Given the description of an element on the screen output the (x, y) to click on. 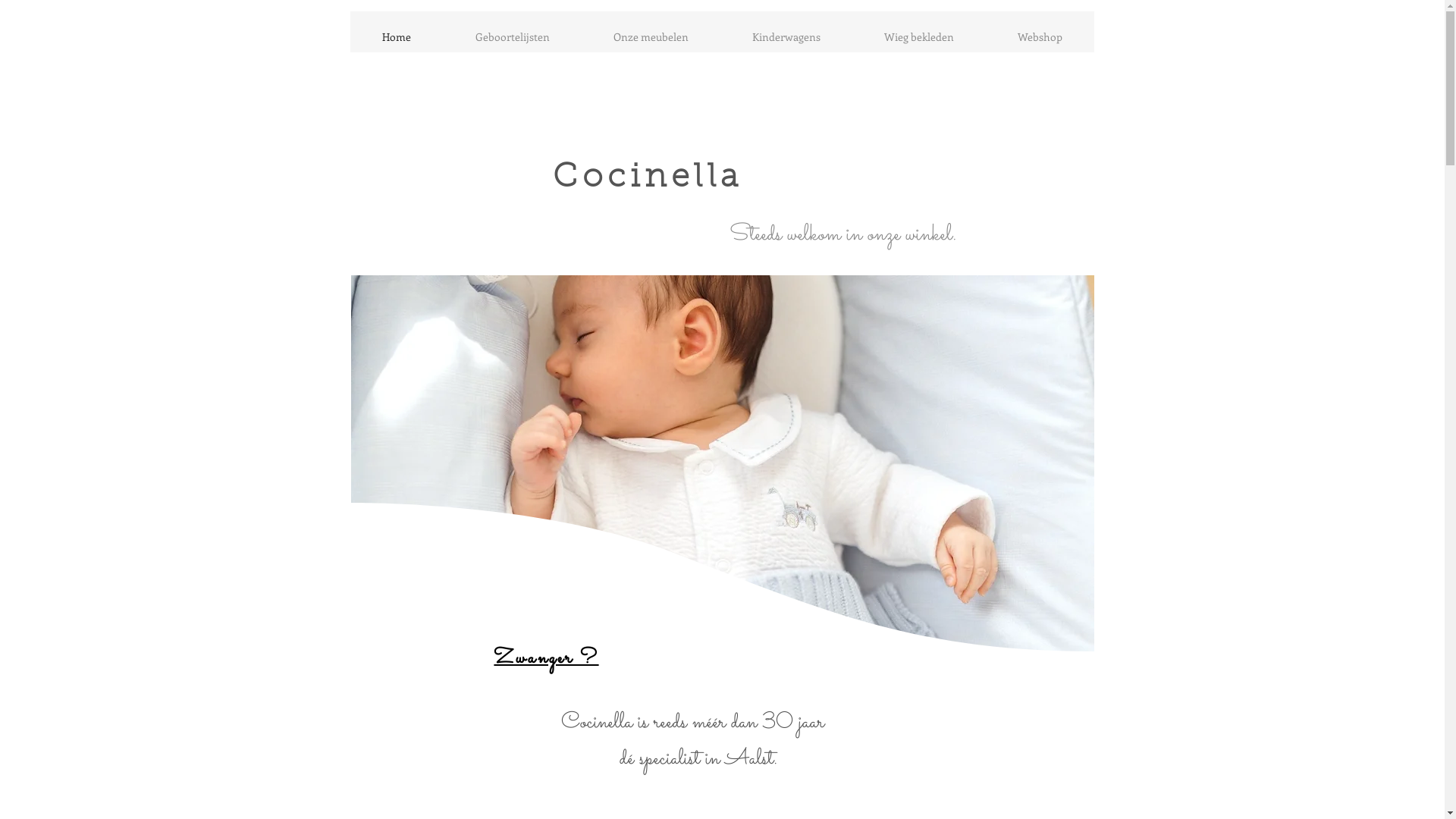
Wieg bekleden Element type: text (918, 36)
Onze meubelen Element type: text (649, 36)
Kinderwagens Element type: text (786, 36)
Webshop Element type: text (1039, 36)
Geboortelijsten Element type: text (511, 36)
Zwanger ? Element type: text (545, 654)
Home Element type: text (396, 36)
